Given the description of an element on the screen output the (x, y) to click on. 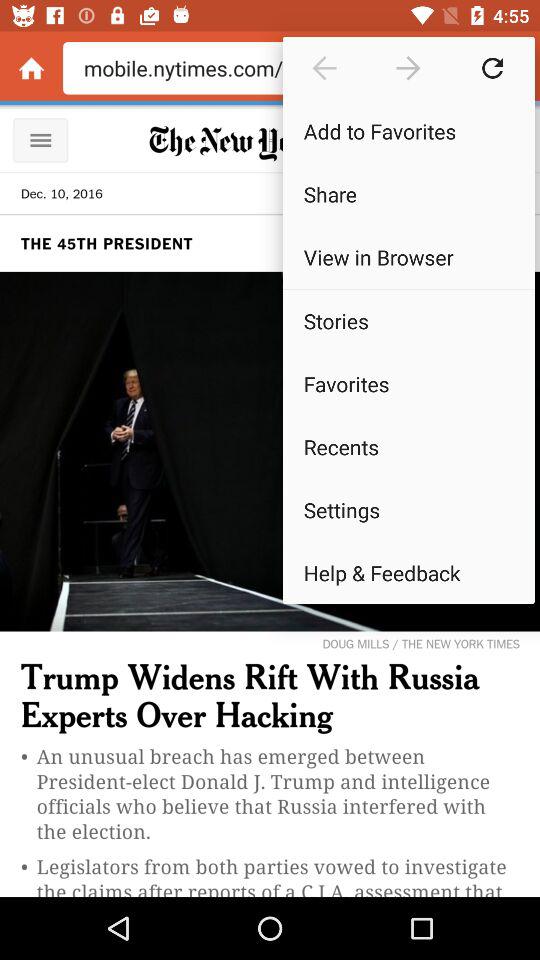
swipe to settings item (408, 509)
